Given the description of an element on the screen output the (x, y) to click on. 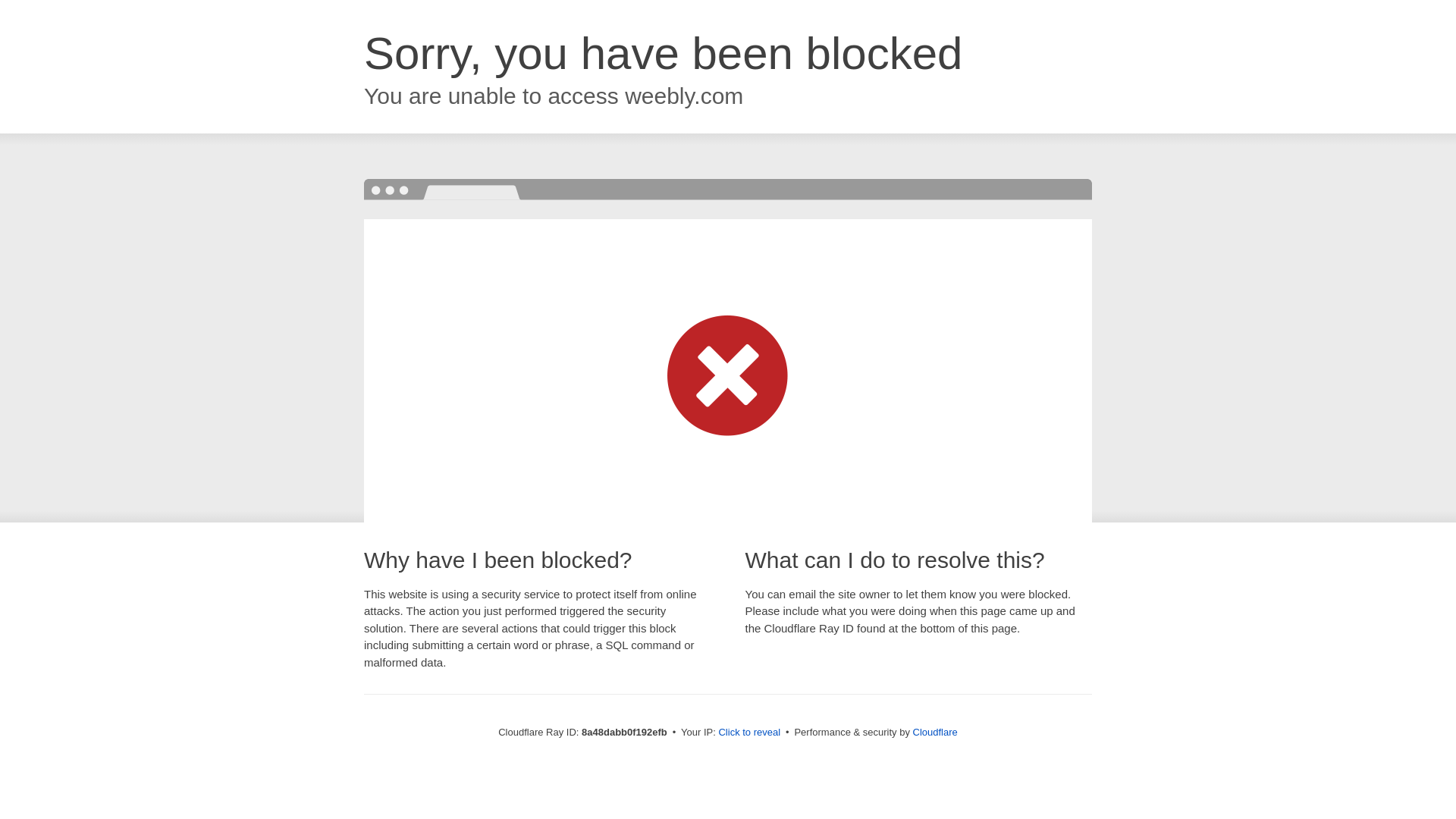
Click to reveal (748, 732)
Cloudflare (935, 731)
